Given the description of an element on the screen output the (x, y) to click on. 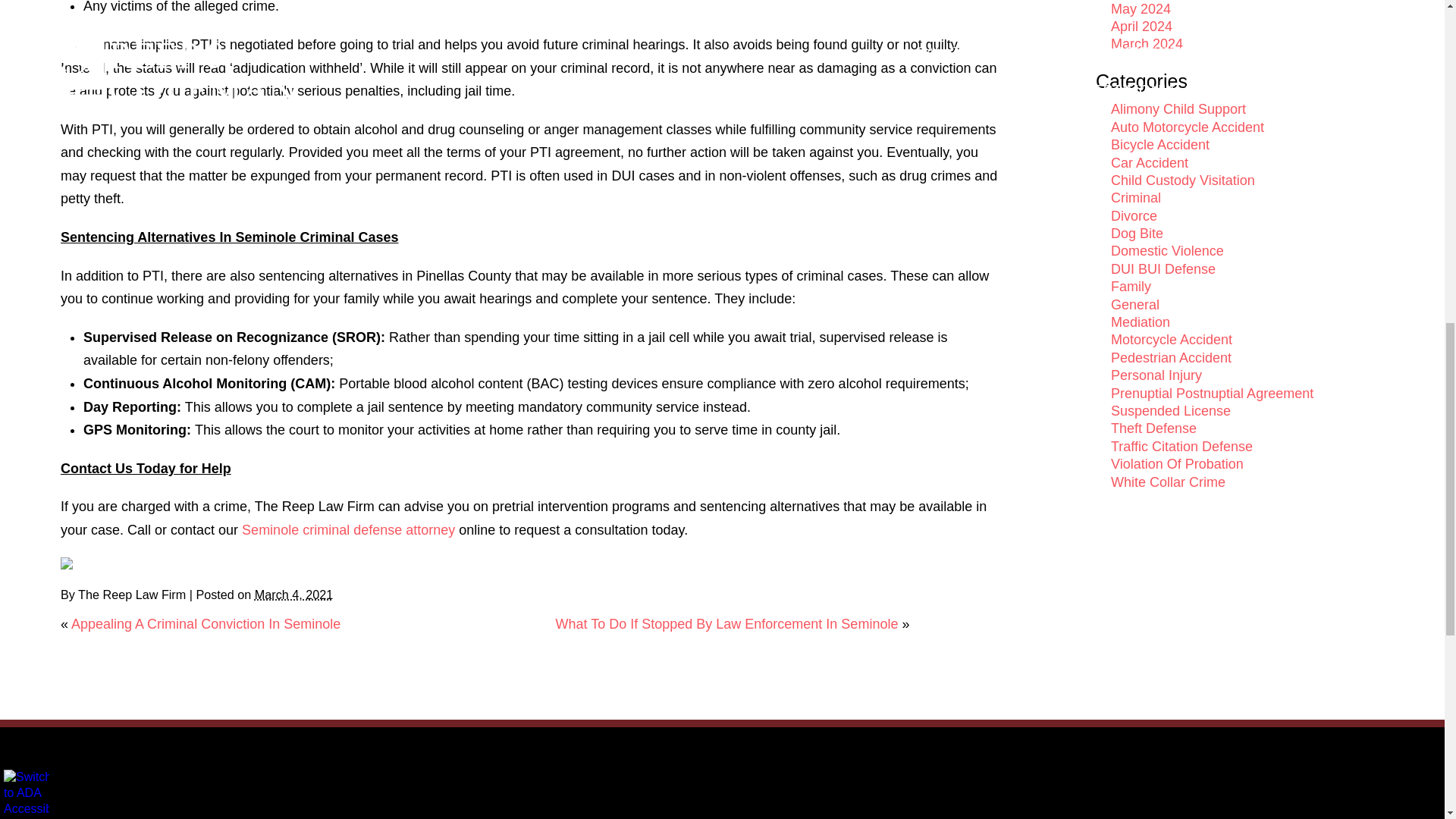
LinkedIn (87, 563)
Twitter (76, 563)
2021-03-04T03:00:00-0800 (293, 594)
Facebook (66, 563)
